Given the description of an element on the screen output the (x, y) to click on. 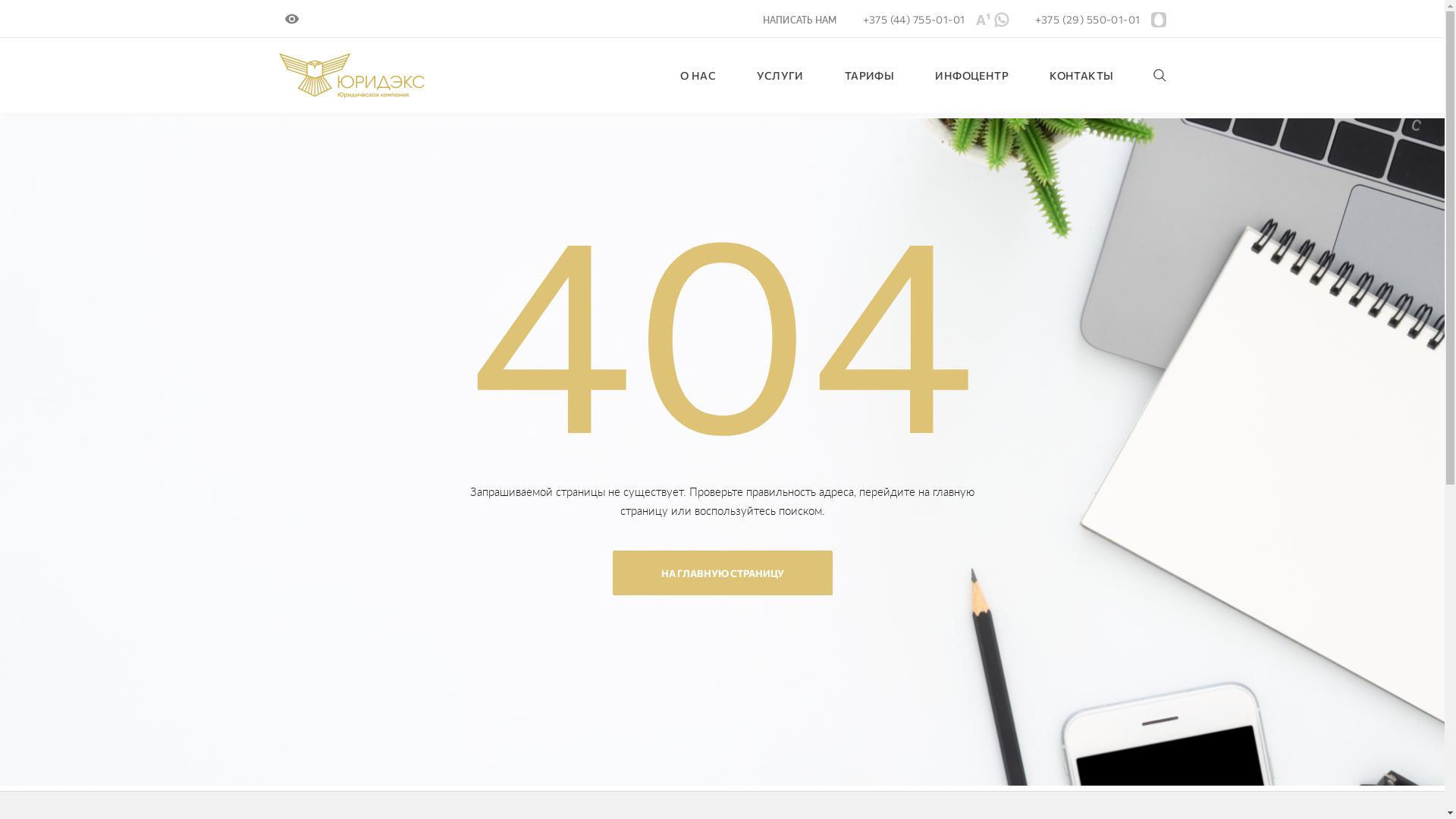
+375 (44) 755-01-01 Element type: text (913, 19)
+375 (29) 550-01-01 Element type: text (1087, 19)
